Given the description of an element on the screen output the (x, y) to click on. 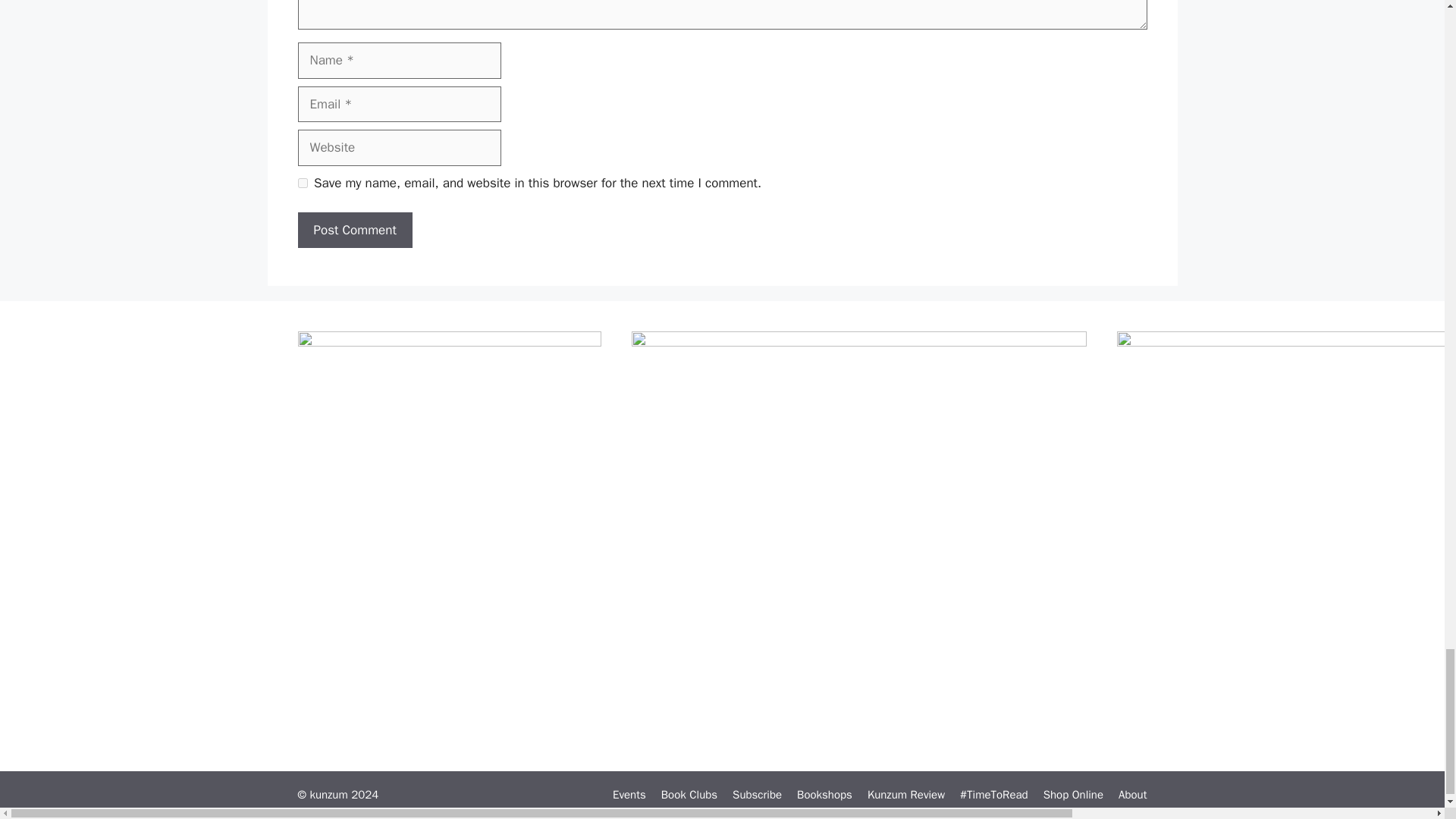
Bookshops (823, 794)
Post Comment (354, 230)
Events (629, 794)
Kunzum Review (905, 794)
Post Comment (354, 230)
yes (302, 183)
Subscribe (756, 794)
Shop Online (1073, 794)
Book Clubs (689, 794)
About (1132, 794)
